Given the description of an element on the screen output the (x, y) to click on. 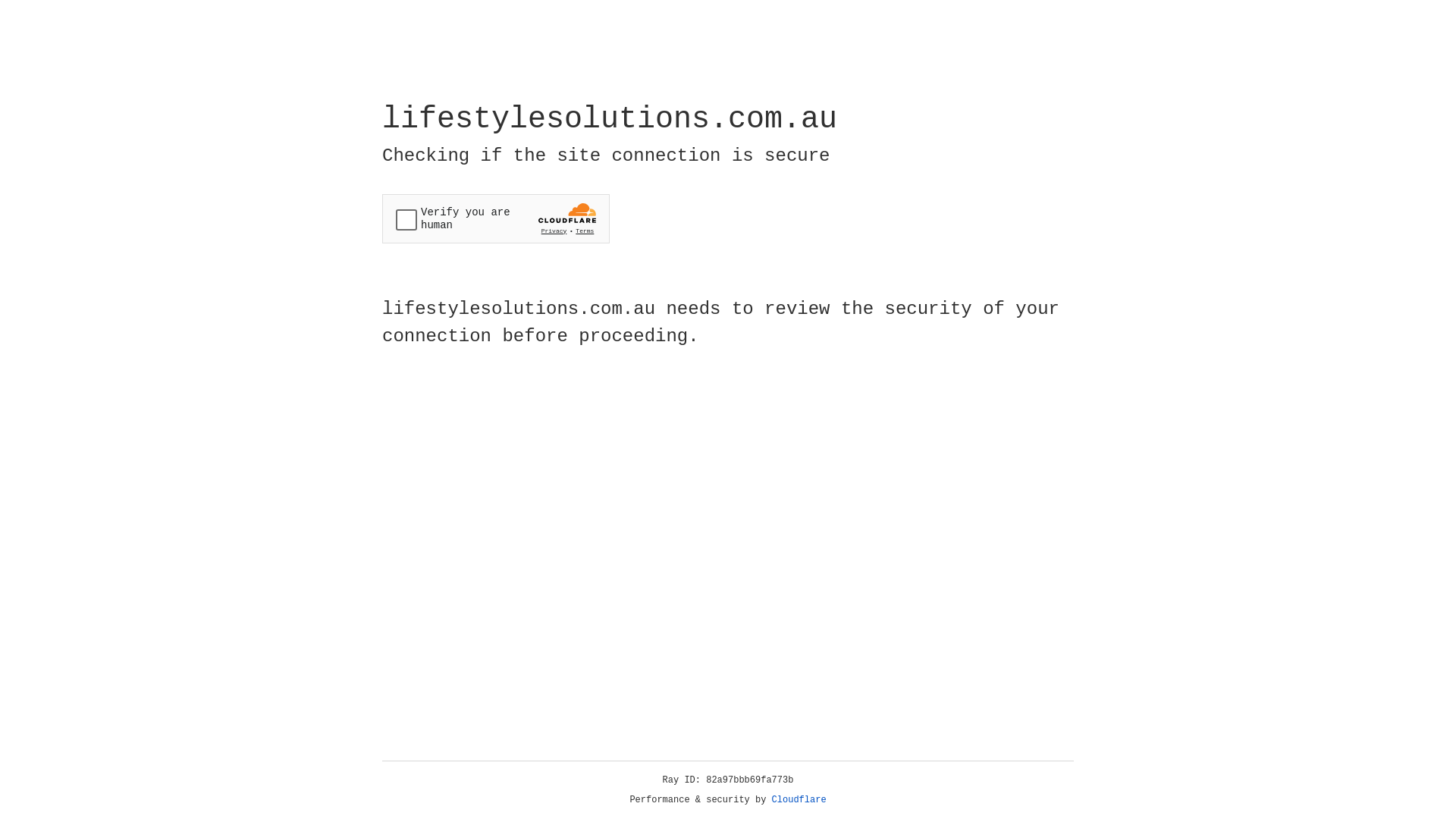
Cloudflare Element type: text (798, 799)
Widget containing a Cloudflare security challenge Element type: hover (495, 218)
